Given the description of an element on the screen output the (x, y) to click on. 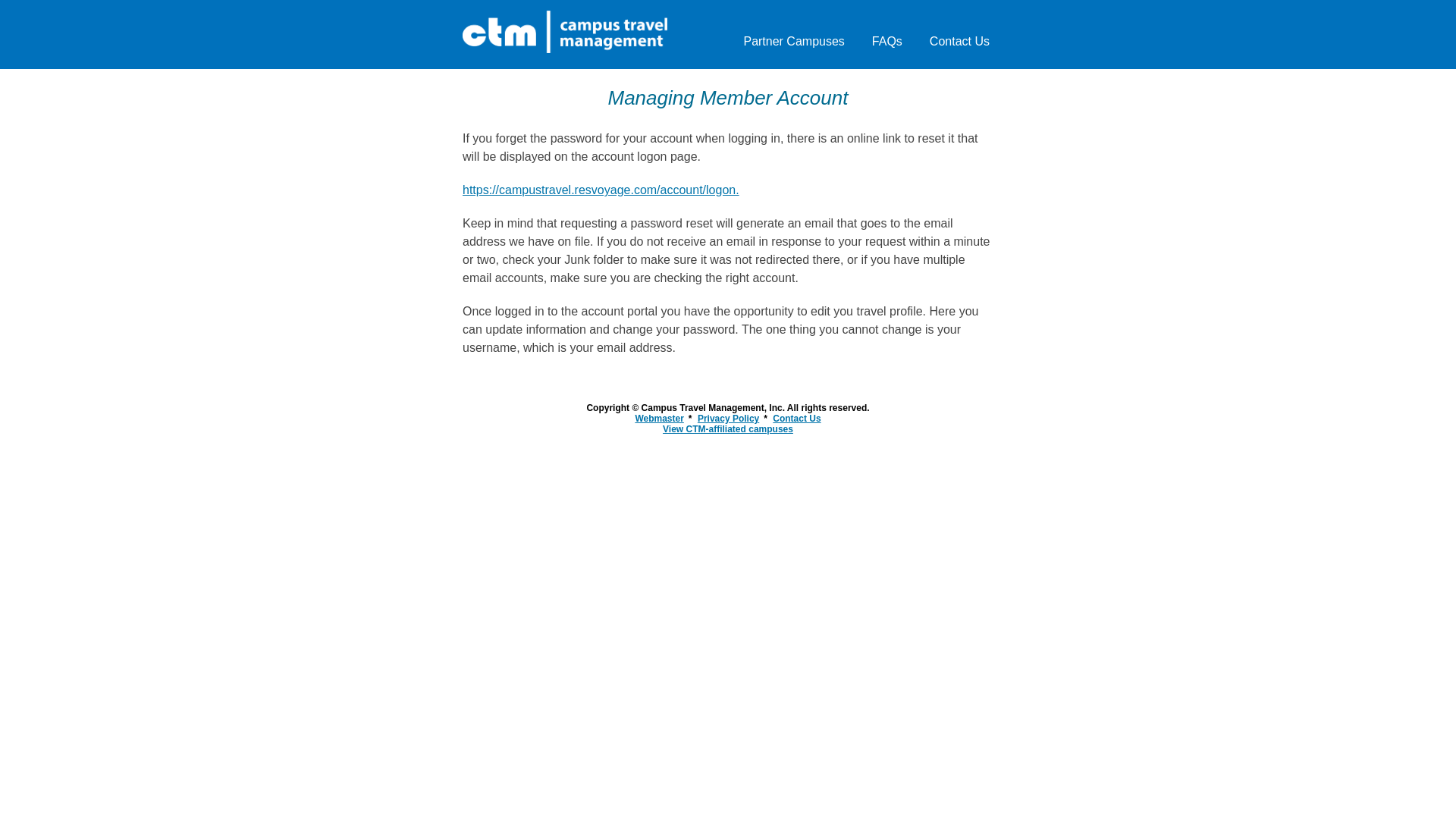
Webmaster (658, 418)
FAQs (886, 41)
Partner Campuses (793, 41)
Privacy Policy (727, 418)
View CTM-affiliated campuses (727, 429)
Contact Us (797, 418)
Contact Us (959, 41)
